Given the description of an element on the screen output the (x, y) to click on. 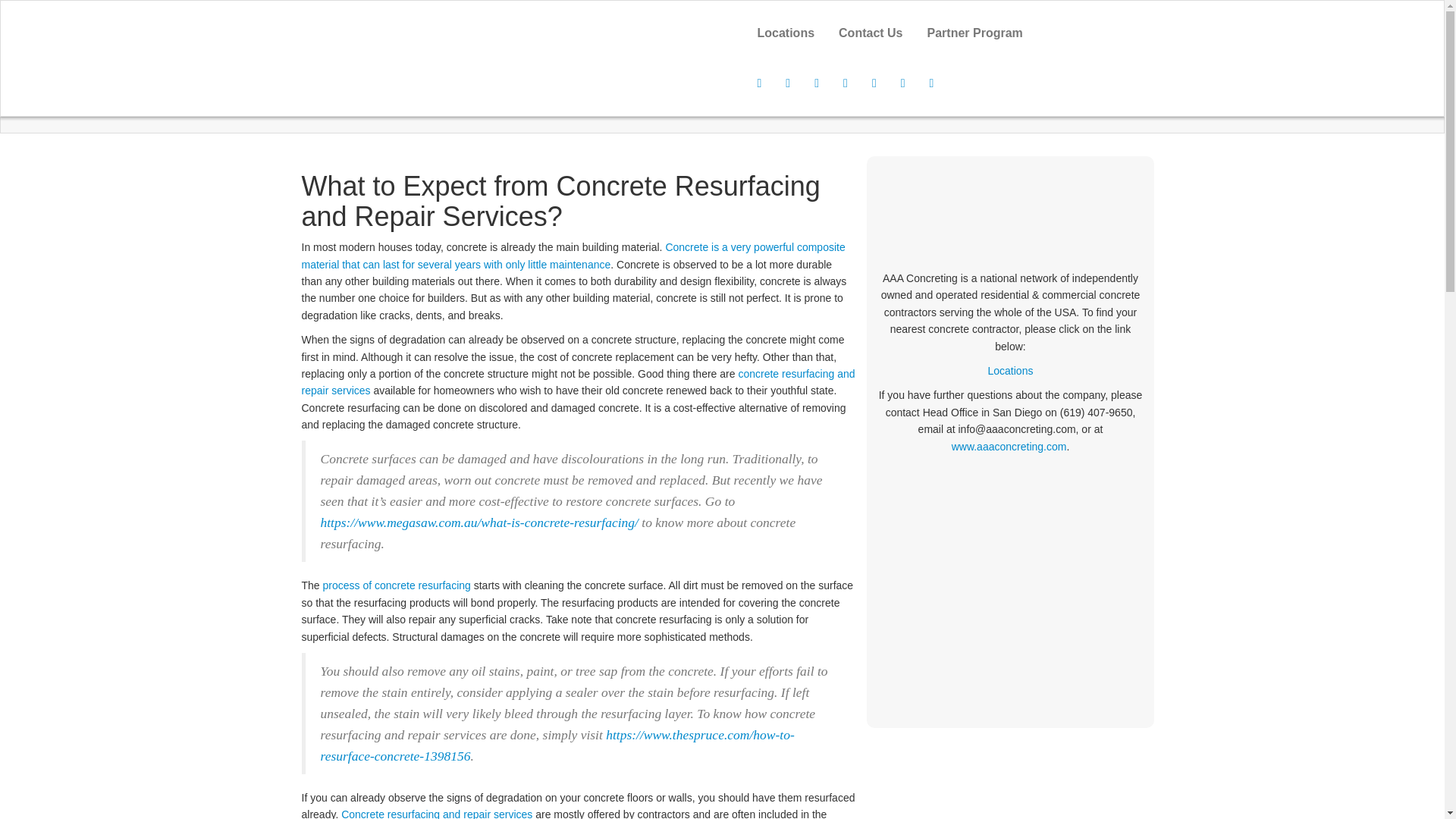
Locations (1010, 370)
concrete resurfacing and repair services (578, 381)
Advertisement (1010, 583)
AAA Concreting (499, 15)
Locations (785, 33)
Contact Us (870, 33)
process of concrete resurfacing (396, 585)
www.aaaconcreting.com (1009, 446)
Locations (785, 33)
Partner Program (975, 33)
Partner Program (975, 33)
Contact Us (870, 33)
Concrete resurfacing and repair services (436, 813)
